Given the description of an element on the screen output the (x, y) to click on. 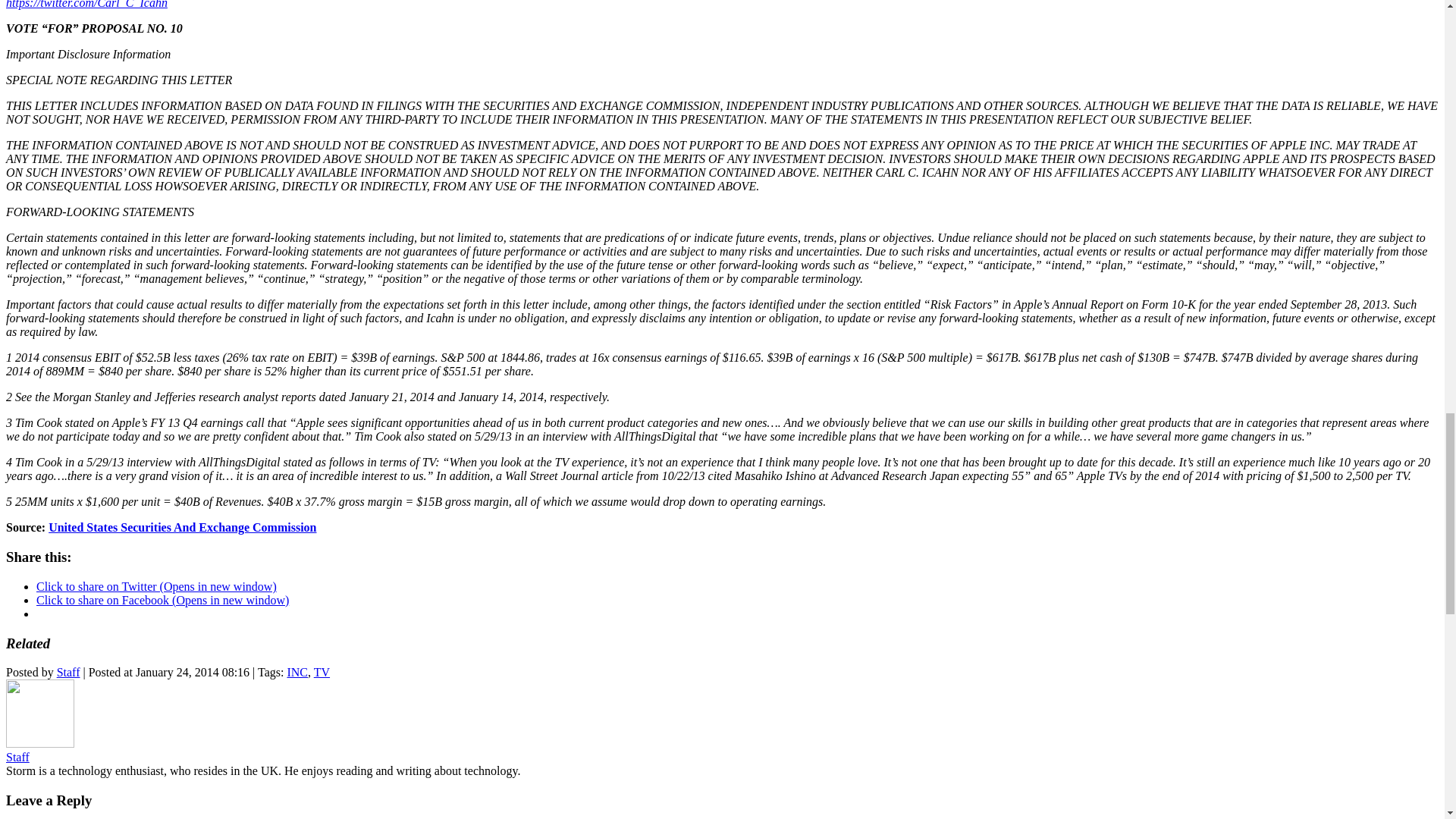
Posts by Staff (68, 671)
Staff (17, 757)
Staff (17, 757)
Click to share on Facebook (162, 599)
Staff (39, 743)
United States Securities And Exchange Commission (181, 526)
Staff (68, 671)
INC (296, 671)
Click to share on Twitter (156, 585)
TV (322, 671)
